Given the description of an element on the screen output the (x, y) to click on. 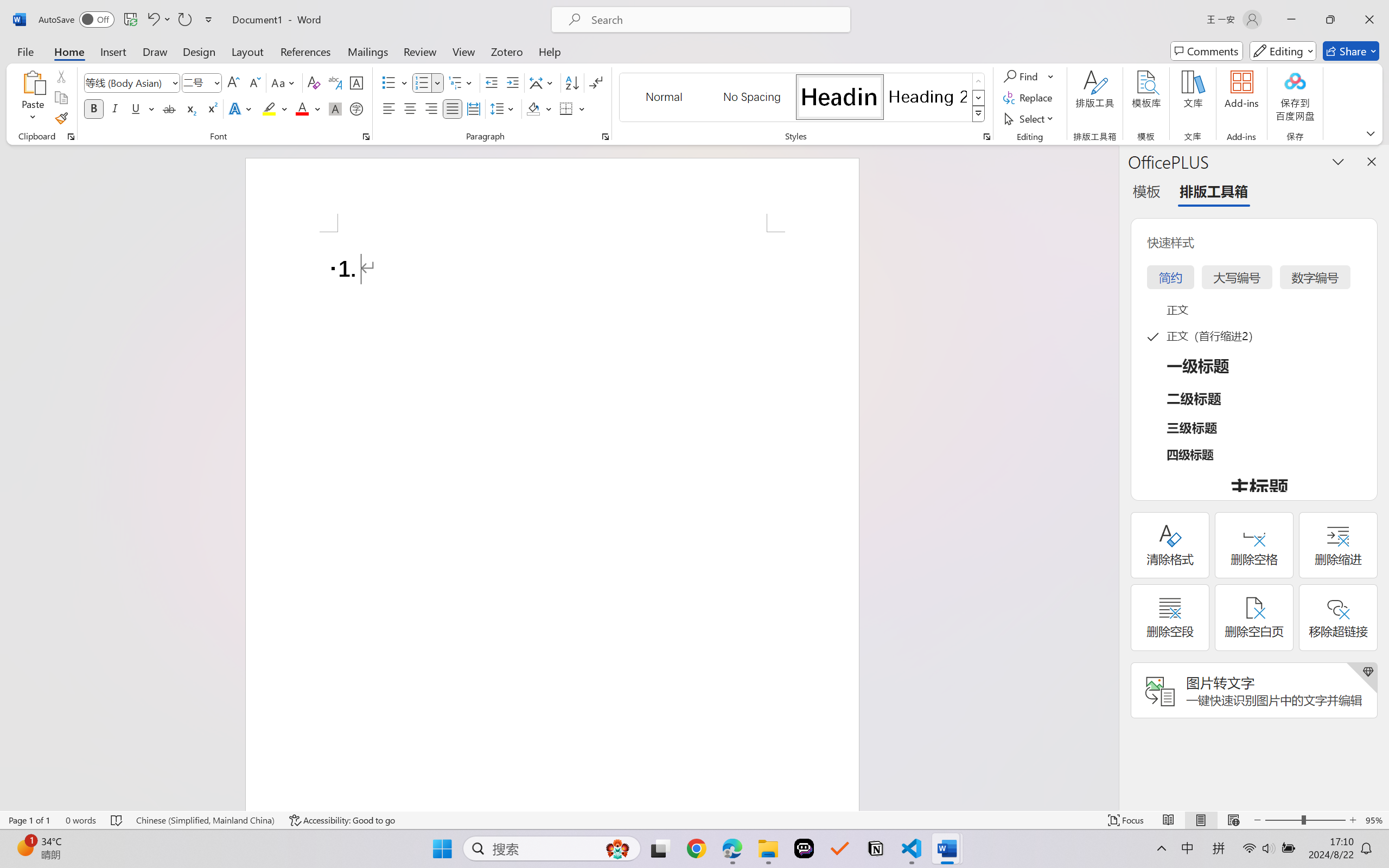
Repeat Number Default (184, 19)
